Given the description of an element on the screen output the (x, y) to click on. 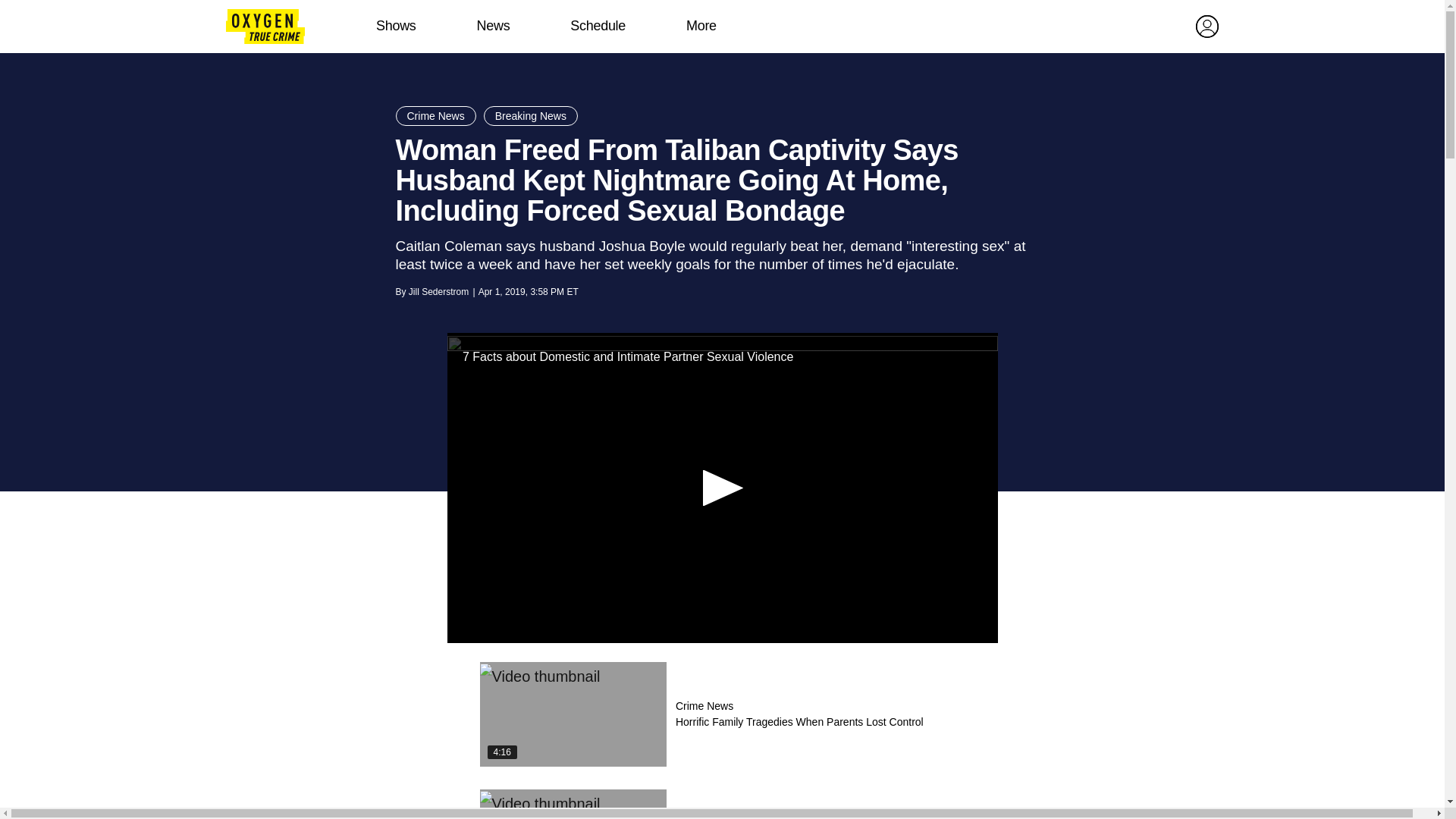
Jill Sederstrom (438, 291)
Breaking News (530, 116)
More (700, 26)
Schedule (598, 26)
Crime News (436, 116)
News (492, 26)
Shows (395, 26)
